Given the description of an element on the screen output the (x, y) to click on. 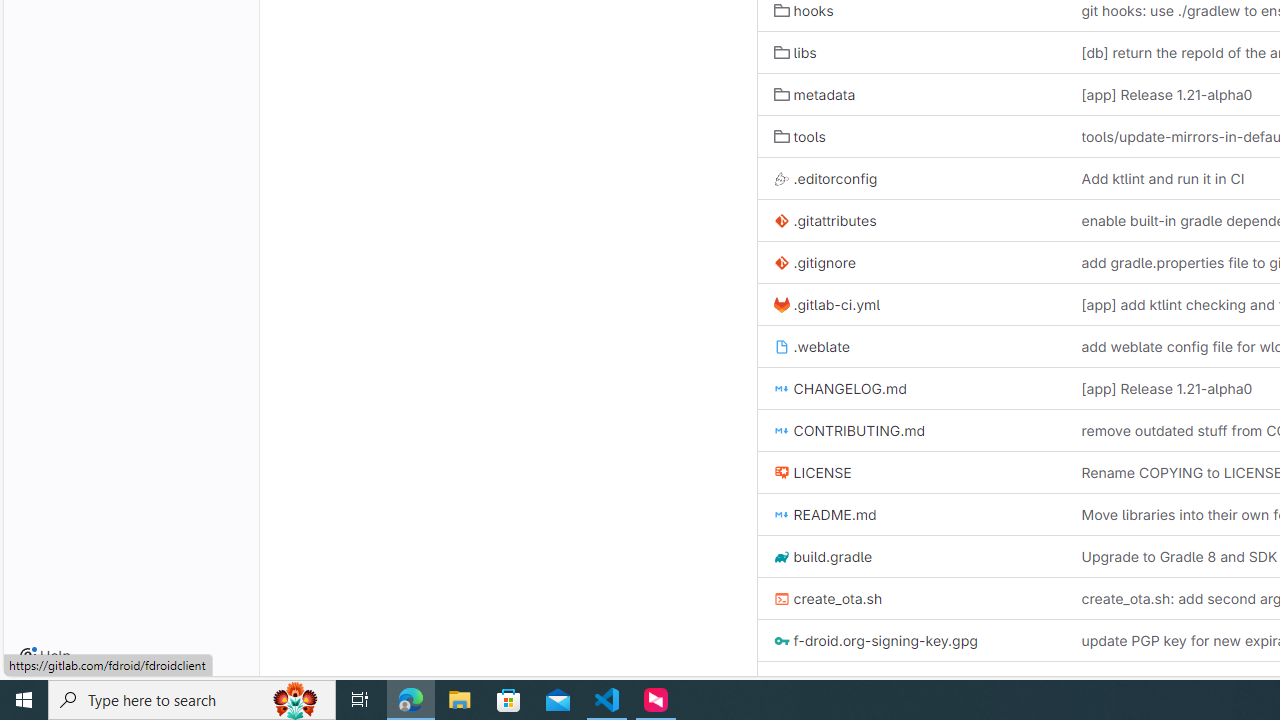
gradle.properties (840, 682)
LICENSE (812, 472)
metadata (911, 93)
[app] Release 1.21-alpha0 (1167, 389)
.gitlab-ci.yml (826, 304)
create_ota.sh (911, 597)
Add ktlint and run it in CI (1163, 178)
build.gradle (911, 556)
metadata (814, 94)
Class: s16 position-relative file-icon (781, 683)
CHANGELOG.md (840, 389)
tools (911, 136)
create_ota.sh (828, 598)
libs (911, 52)
.weblate (811, 346)
